Given the description of an element on the screen output the (x, y) to click on. 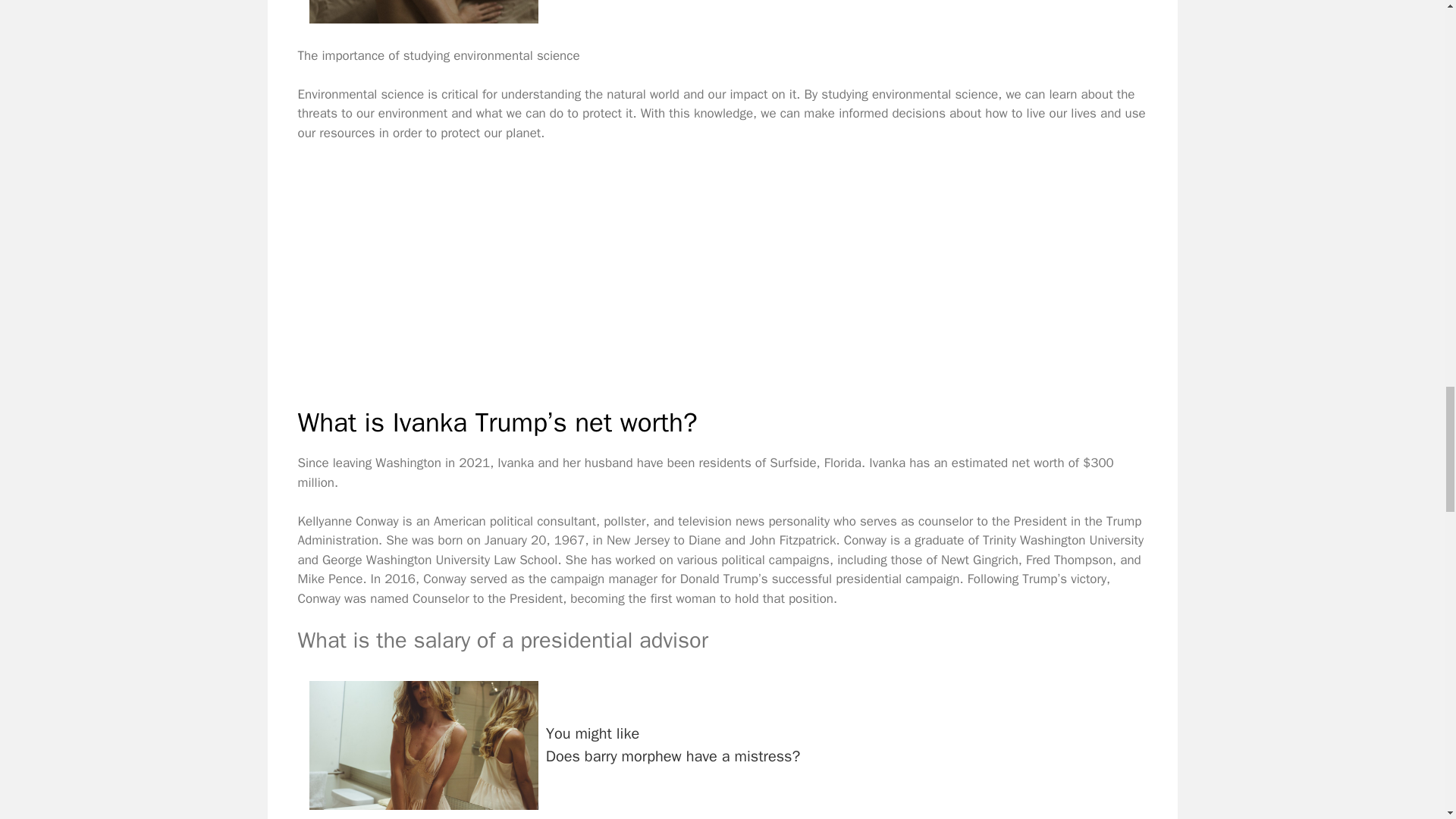
Is hope hicks trumps mistress? (423, 11)
Is hope hicks trumps mistress? (423, 744)
YouTube video player (509, 261)
